Given the description of an element on the screen output the (x, y) to click on. 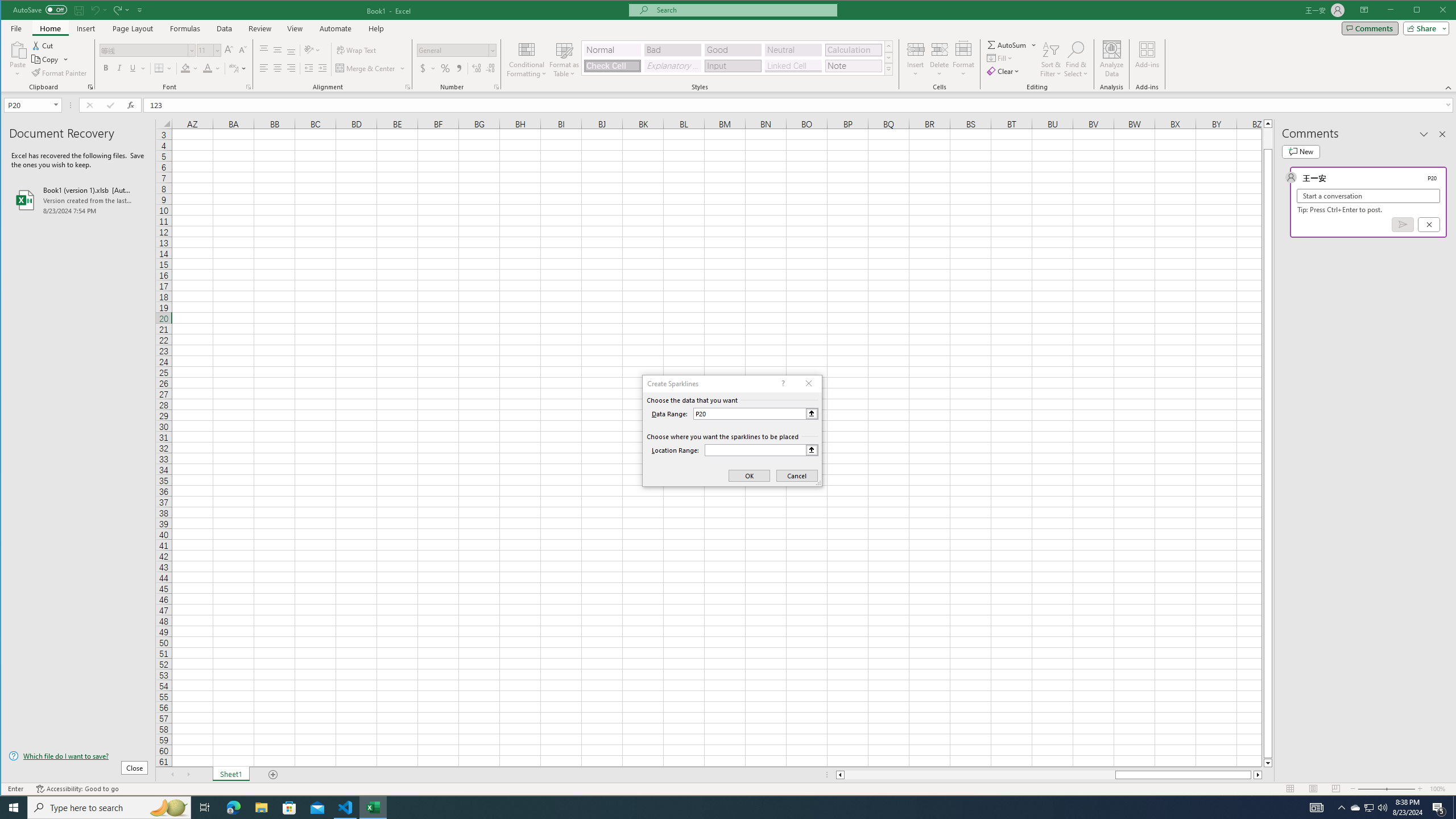
Merge & Center (365, 68)
Fill (1000, 57)
Accounting Number Format (427, 68)
